Given the description of an element on the screen output the (x, y) to click on. 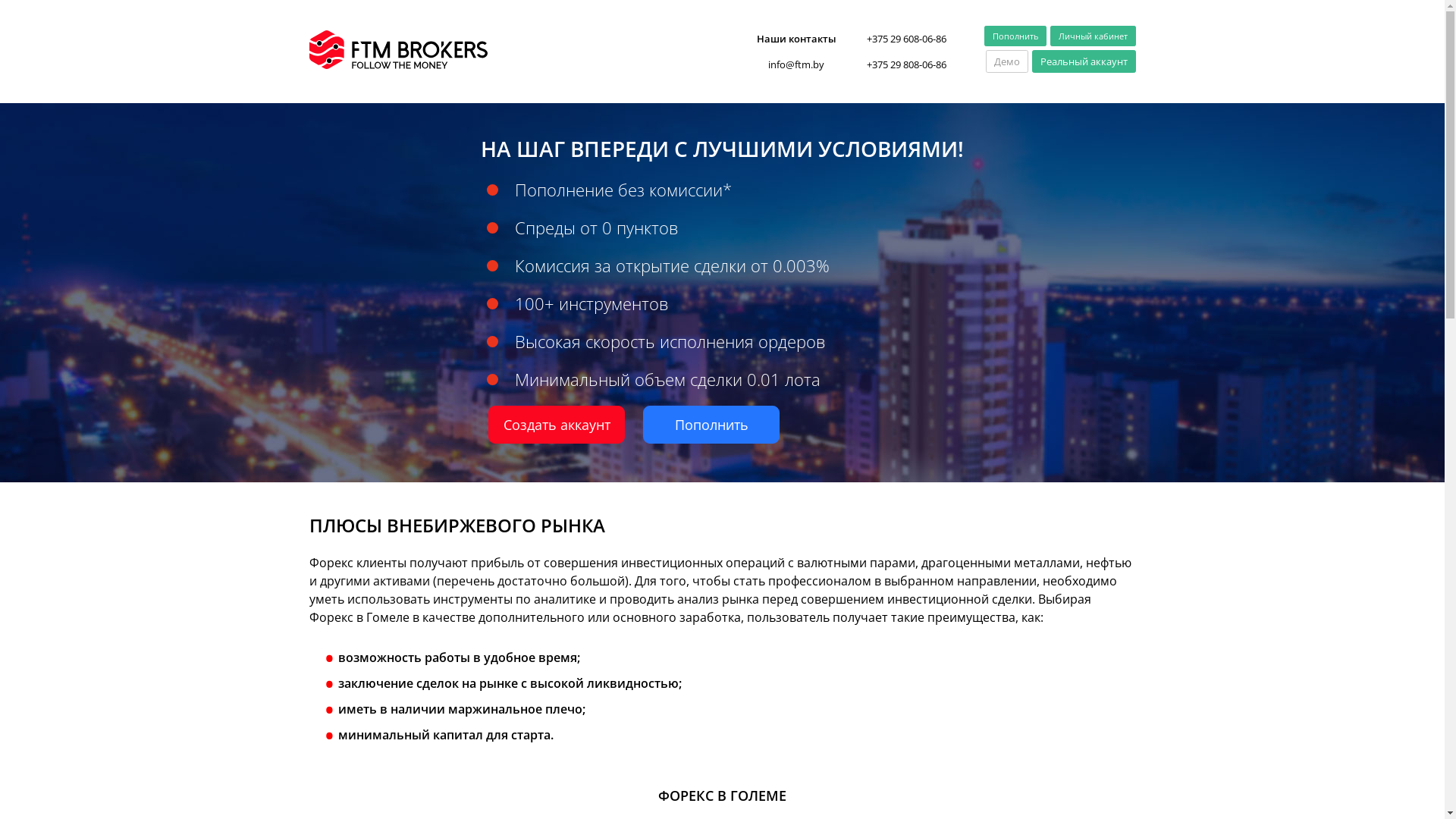
+375 29 808-06-86 Element type: text (905, 64)
info@ftm.by Element type: text (795, 64)
+375 29 608-06-86 Element type: text (905, 38)
